Given the description of an element on the screen output the (x, y) to click on. 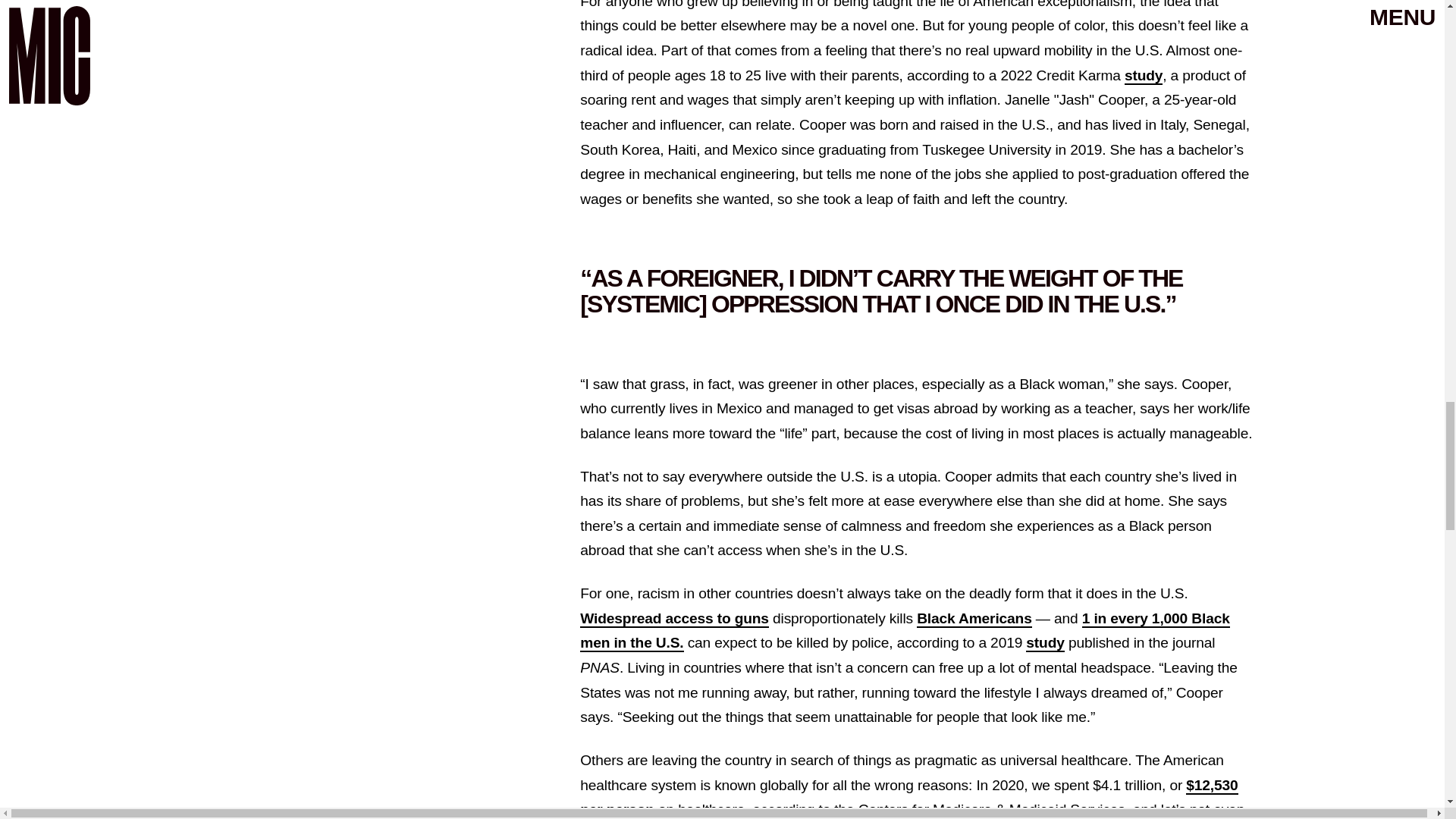
1 in every 1,000 Black men in the U.S. (903, 631)
study (1045, 642)
Black Americans (974, 619)
Widespread access to guns (673, 619)
study (1142, 76)
